Given the description of an element on the screen output the (x, y) to click on. 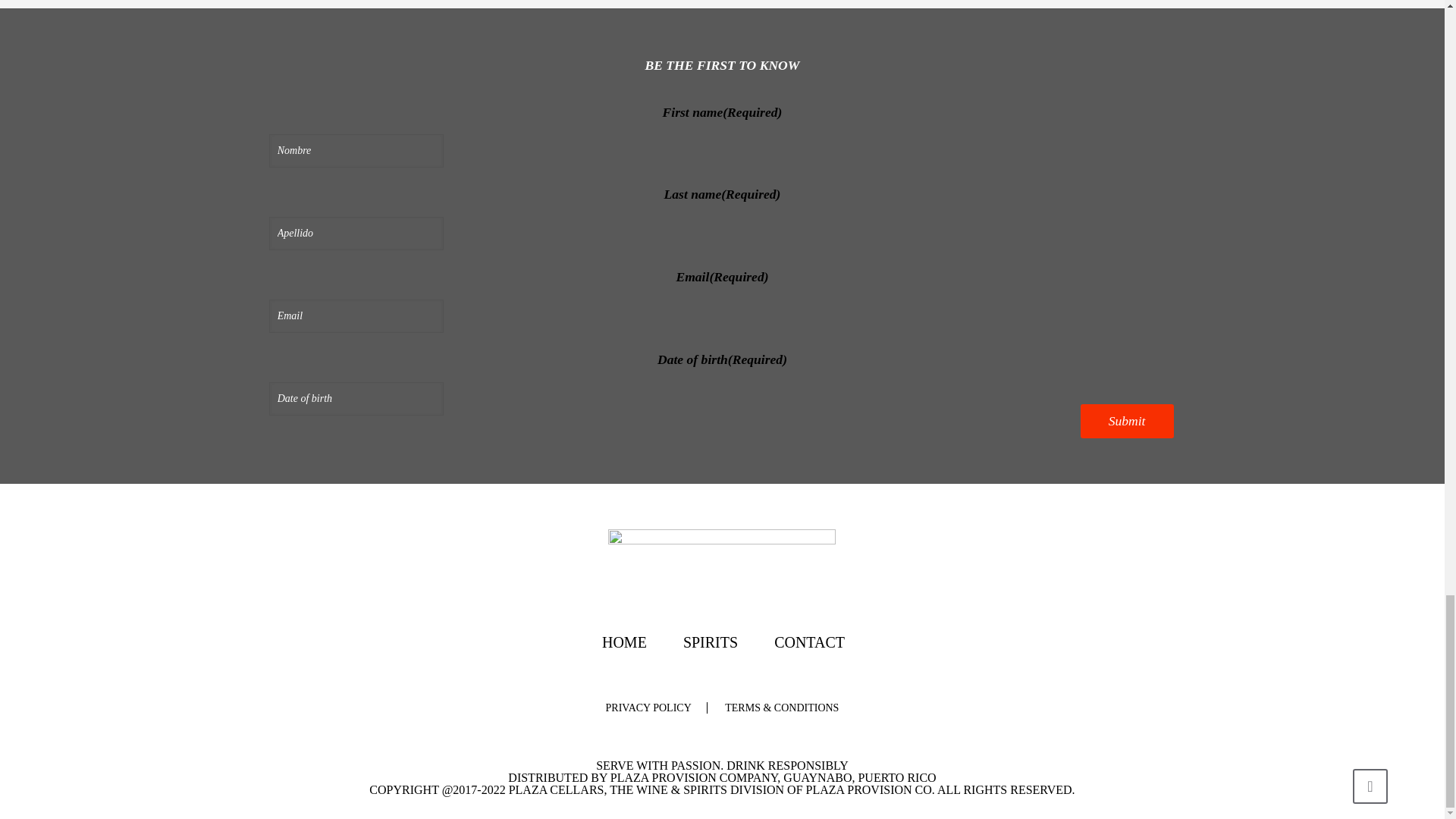
Submit (1126, 421)
HOME (622, 642)
CONTACT (807, 642)
SPIRITS (709, 642)
Submit (1126, 421)
PRIVACY POLICY (648, 707)
